Given the description of an element on the screen output the (x, y) to click on. 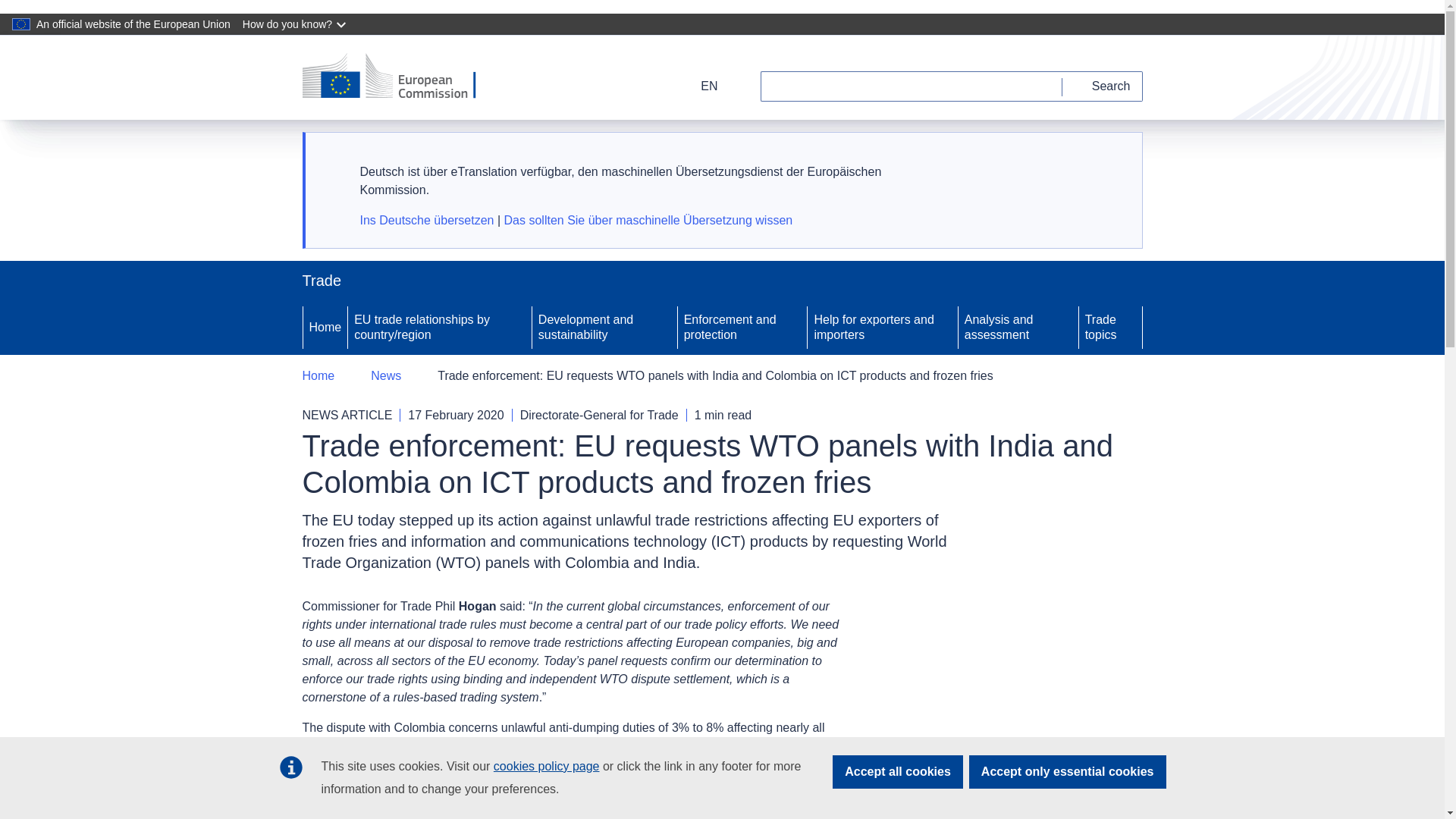
Trade topics (1109, 327)
News (386, 375)
Accept only essential cookies (1067, 771)
Help for exporters and importers (882, 327)
How do you know? (295, 24)
cookies policy page (546, 766)
Search (1102, 86)
Home (317, 375)
Development and sustainability (604, 327)
European Commission (399, 77)
